Given the description of an element on the screen output the (x, y) to click on. 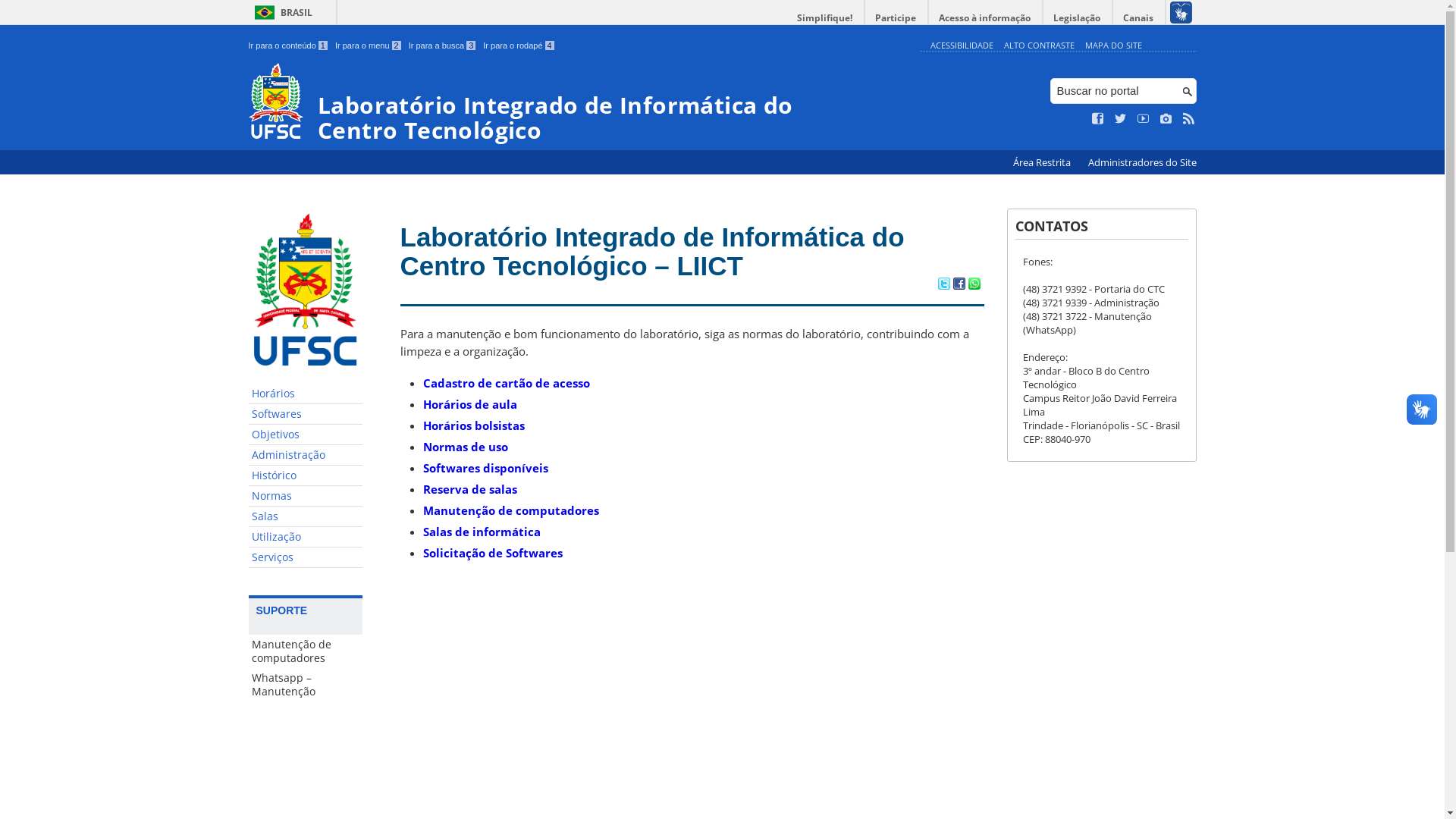
ALTO CONTRASTE Element type: text (1039, 44)
Ir para o menu 2 Element type: text (368, 45)
Curta no Facebook Element type: hover (1098, 118)
Softwares Element type: text (305, 414)
Veja no Instagram Element type: hover (1166, 118)
ACESSIBILIDADE Element type: text (960, 44)
MAPA DO SITE Element type: text (1112, 44)
Reserva de salas Element type: text (470, 488)
Siga no Twitter Element type: hover (1120, 118)
BRASIL Element type: text (280, 12)
Compartilhar no WhatsApp Element type: hover (973, 284)
Salas Element type: text (305, 516)
Participe Element type: text (895, 18)
Objetivos Element type: text (305, 434)
Normas Element type: text (305, 496)
Canais Element type: text (1138, 18)
Compartilhar no Facebook Element type: hover (958, 284)
Normas de uso Element type: text (465, 446)
Administradores do Site Element type: text (1141, 162)
Compartilhar no Twitter Element type: hover (943, 284)
Simplifique! Element type: text (825, 18)
Ir para a busca 3 Element type: text (442, 45)
